Given the description of an element on the screen output the (x, y) to click on. 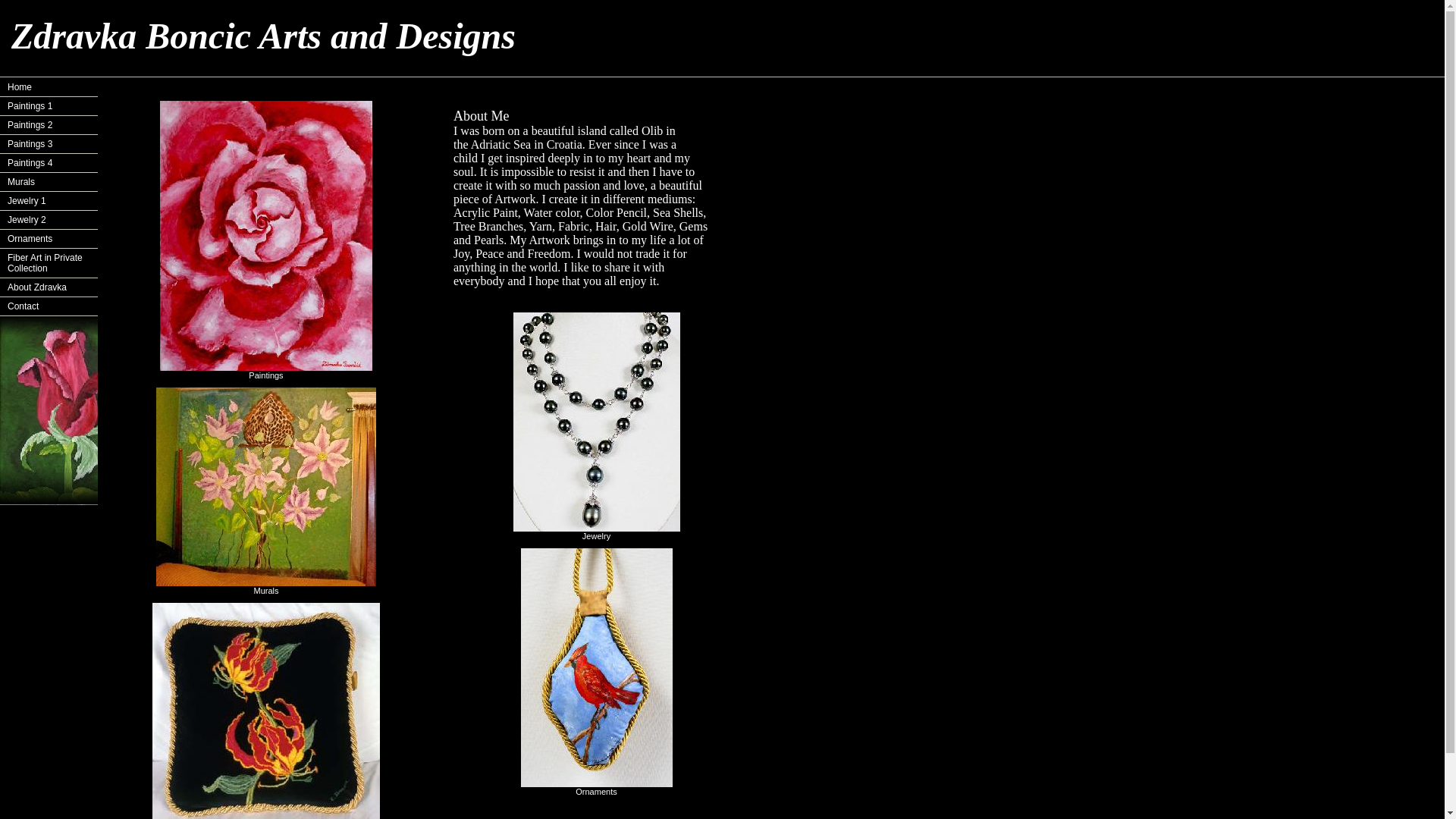
Paintings 2 (48, 125)
Paintings 1 (48, 106)
Jewelry 1 (48, 200)
Contact (48, 306)
Ornaments (48, 239)
Murals (48, 181)
About Zdravka (48, 287)
Paintings 4 (48, 162)
Home (48, 87)
Jewelry 2 (48, 220)
Fiber Art in Private Collection (48, 263)
Paintings 3 (48, 144)
